Given the description of an element on the screen output the (x, y) to click on. 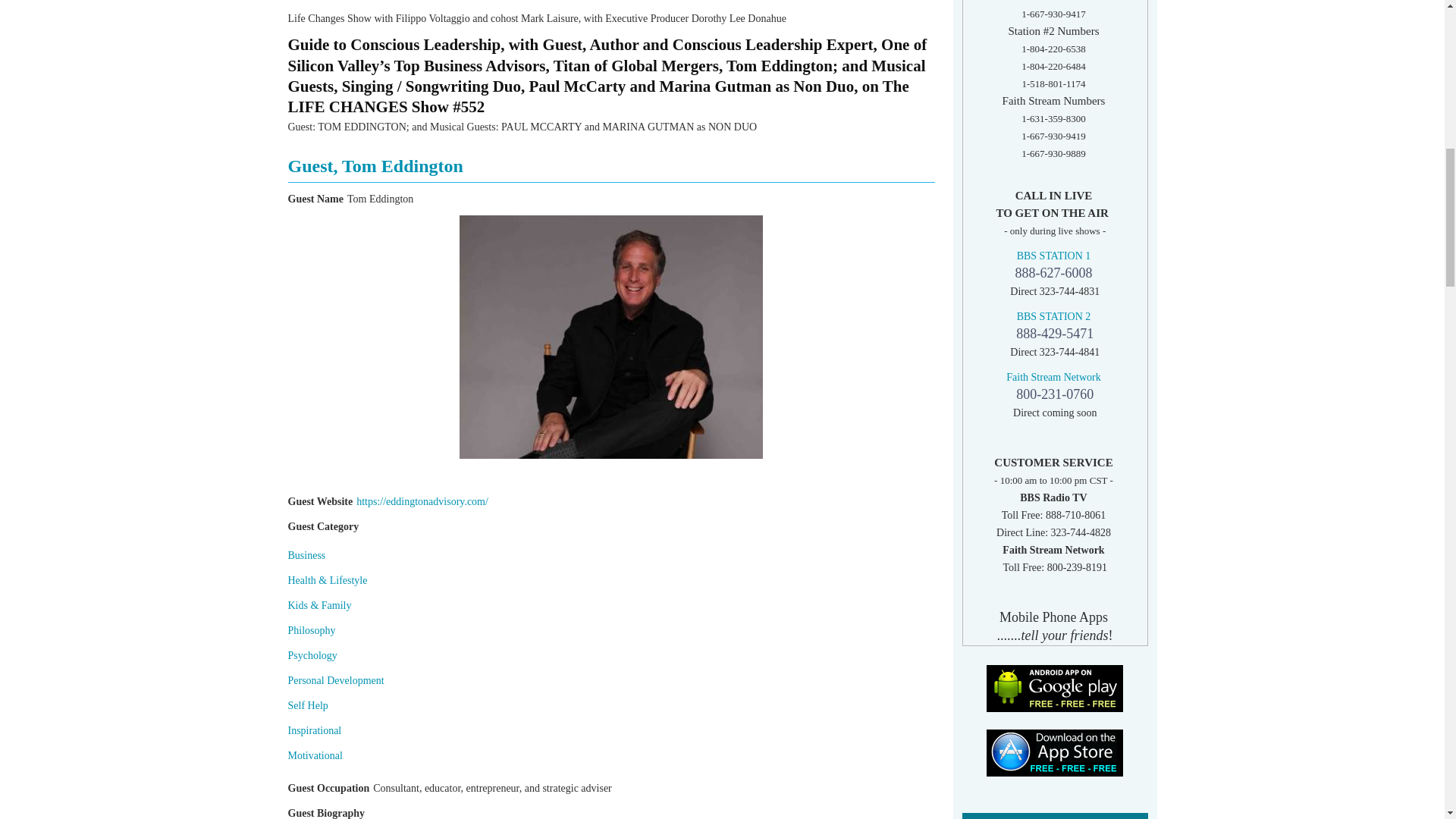
Tom Eddington (611, 336)
